Given the description of an element on the screen output the (x, y) to click on. 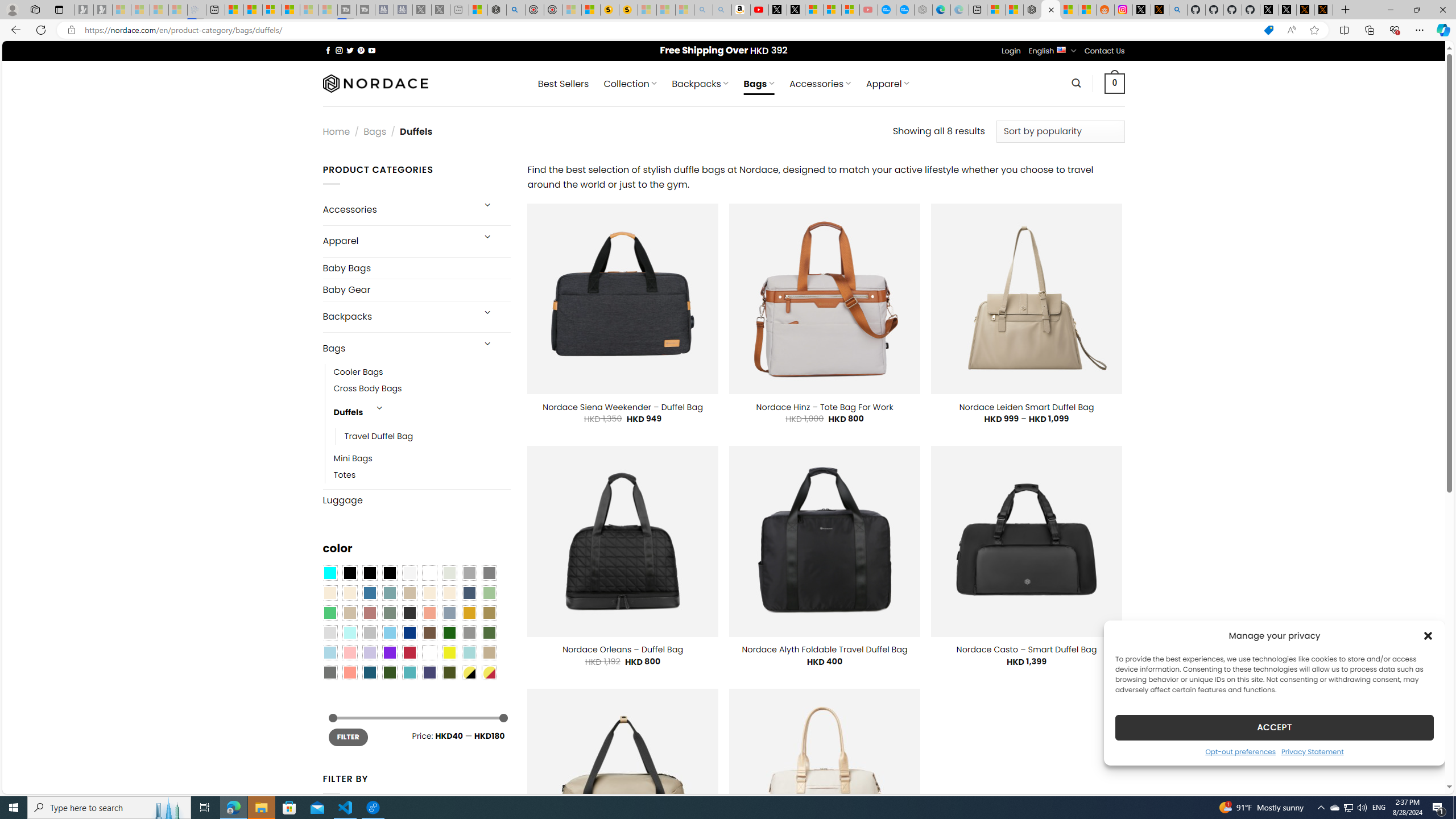
Brownie (408, 592)
Follow on Instagram (338, 49)
Follow on YouTube (371, 49)
Microsoft Start - Sleeping (309, 9)
Light Green (488, 592)
